Given the description of an element on the screen output the (x, y) to click on. 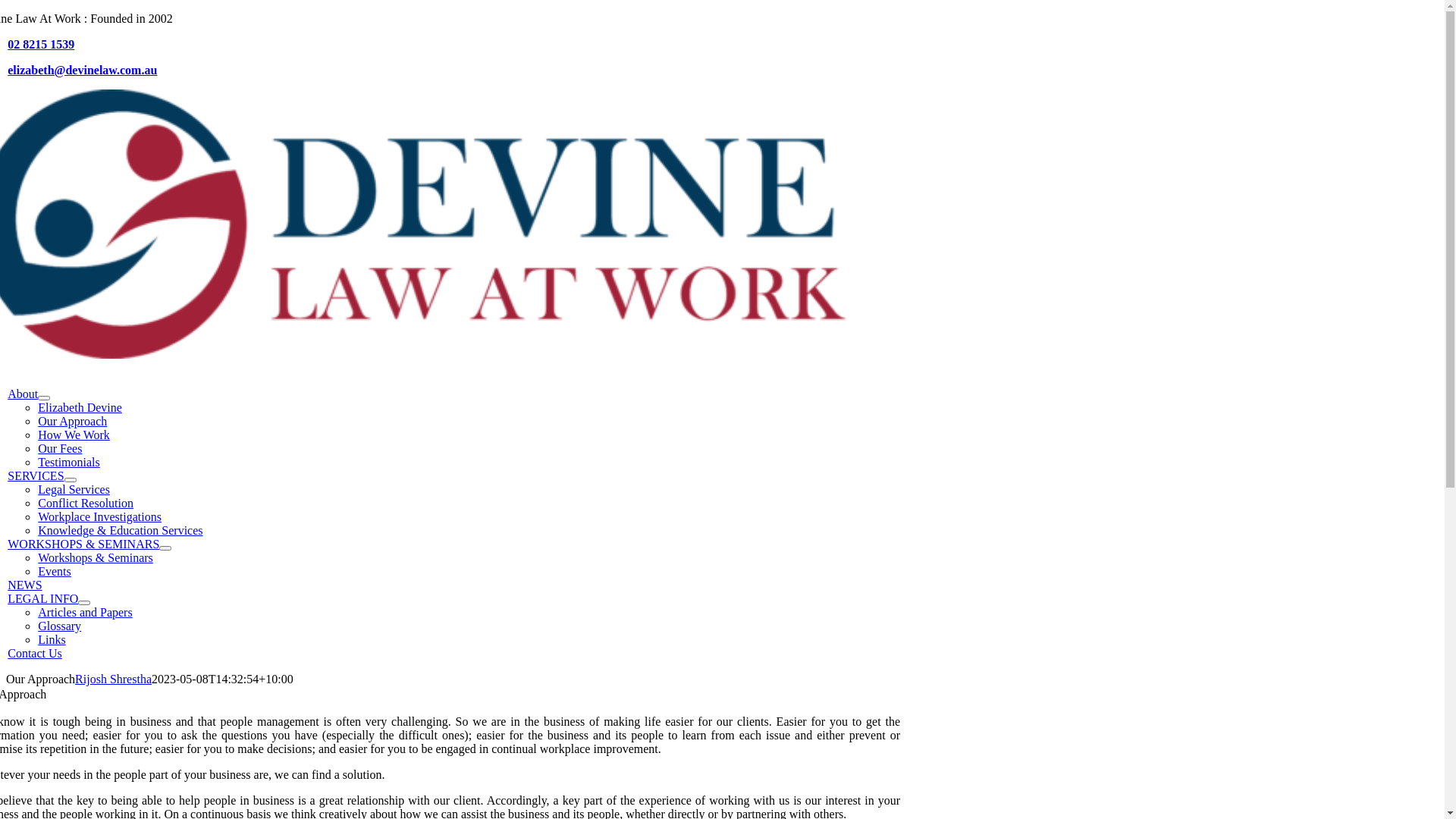
Conflict Resolution Element type: text (85, 502)
Our Approach Element type: text (71, 420)
Rijosh Shrestha Element type: text (113, 678)
NEWS Element type: text (24, 584)
WORKSHOPS & SEMINARS Element type: text (83, 543)
Elizabeth Devine Element type: text (79, 407)
Contact Us Element type: text (34, 652)
Workplace Investigations Element type: text (99, 516)
Events Element type: text (54, 570)
02 8215 1539 Element type: text (40, 43)
LEGAL INFO Element type: text (42, 598)
Testimonials Element type: text (68, 461)
About Element type: text (22, 393)
Skip to content Element type: text (5, 11)
Knowledge & Education Services Element type: text (119, 530)
Our Fees Element type: text (59, 448)
Glossary Element type: text (59, 625)
Legal Services Element type: text (73, 489)
Workshops & Seminars Element type: text (95, 557)
elizabeth@devinelaw.com.au Element type: text (81, 69)
How We Work Element type: text (73, 434)
Articles and Papers Element type: text (84, 611)
SERVICES Element type: text (35, 475)
Links Element type: text (51, 639)
